Given the description of an element on the screen output the (x, y) to click on. 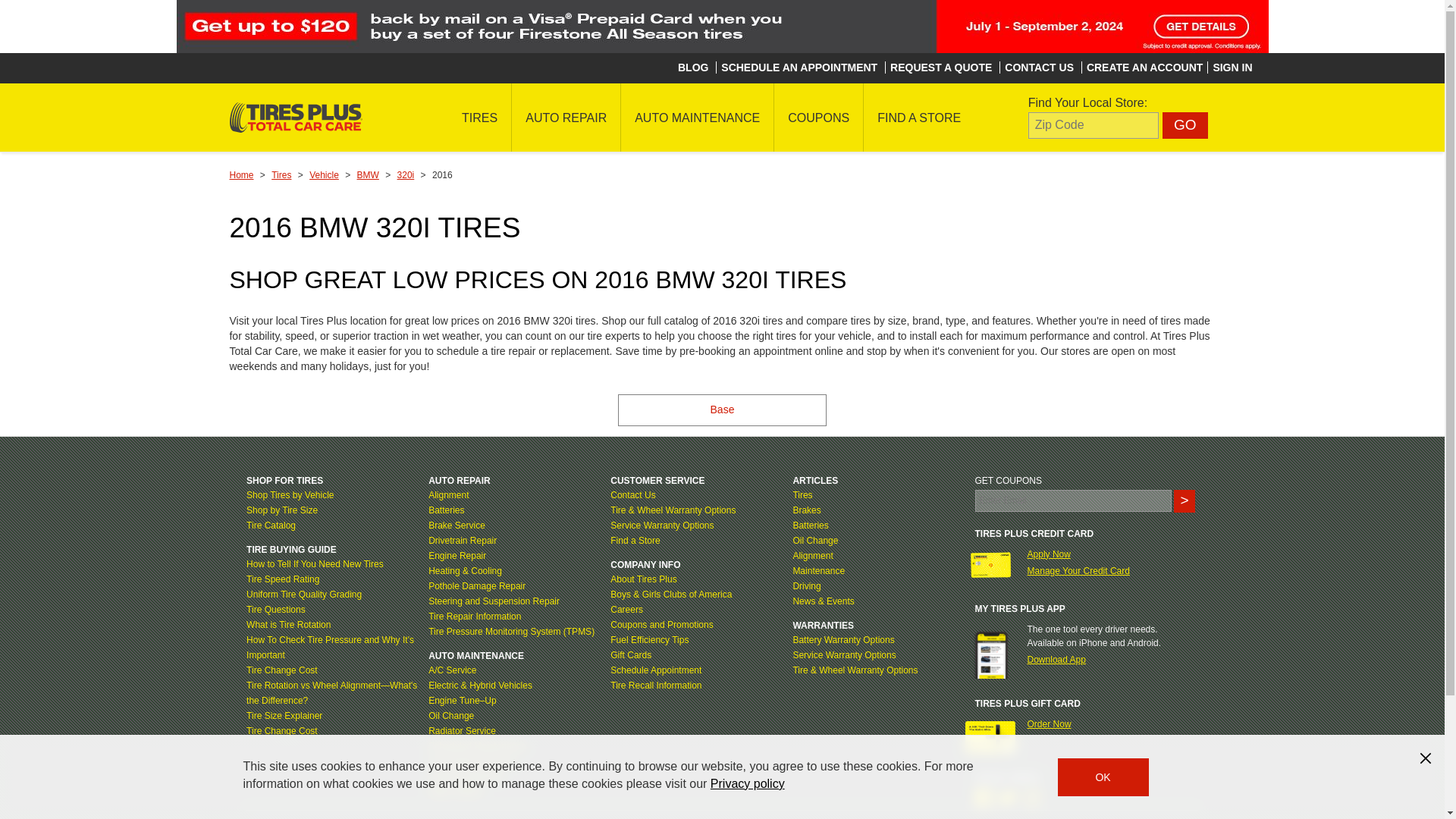
AUTO REPAIR (566, 117)
close button (1425, 758)
Zip Code (1092, 125)
BLOG (692, 67)
Twitter (1007, 797)
REQUEST A QUOTE (940, 67)
SIGN IN (1231, 67)
Facebook (983, 797)
TIRES (479, 117)
SCHEDULE AN APPOINTMENT (799, 67)
